Given the description of an element on the screen output the (x, y) to click on. 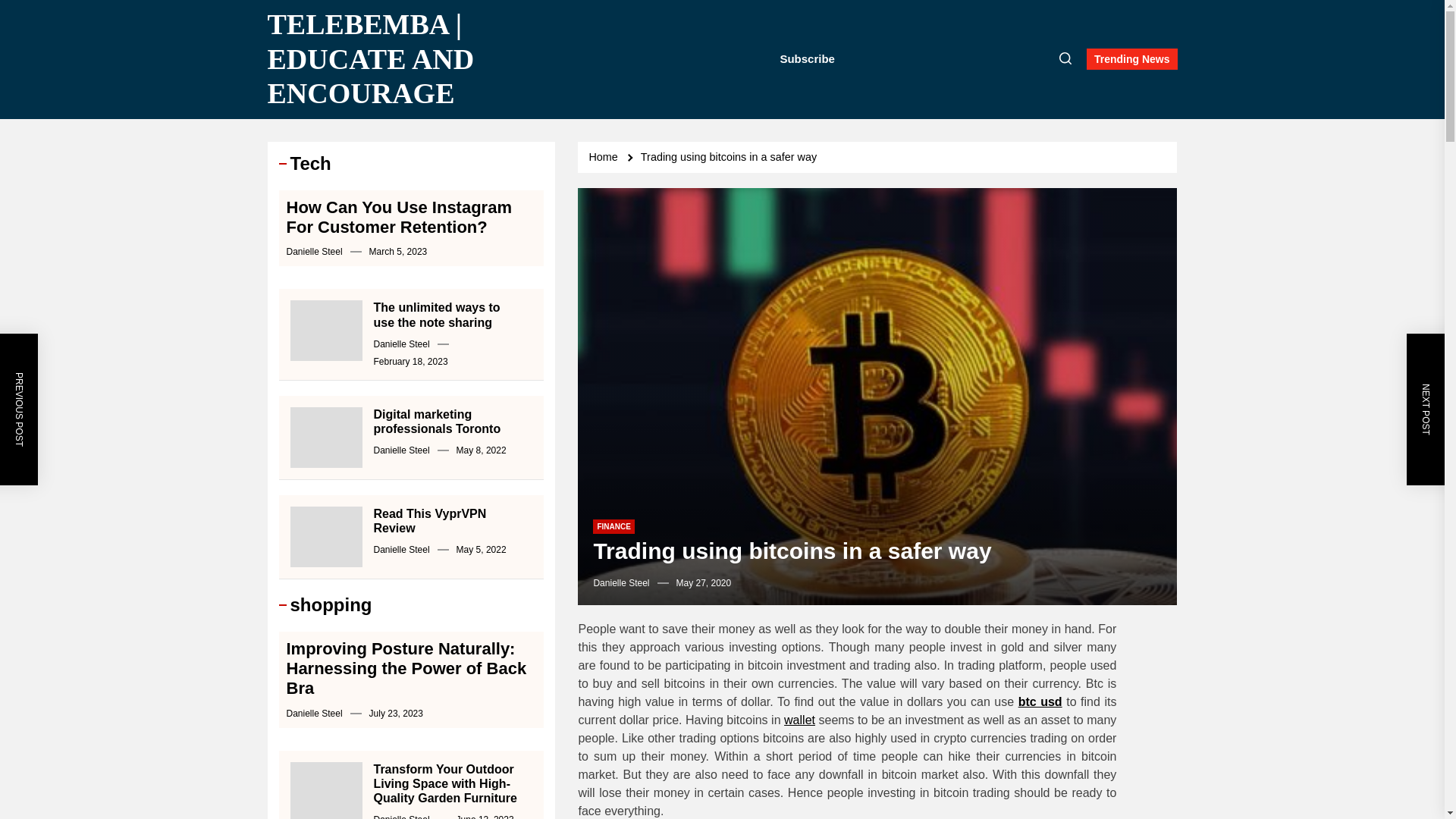
Read This VyprVPN Review (429, 520)
Trending News (1131, 58)
Home (605, 156)
How Can You Use Instagram For Customer Retention? (399, 217)
Subscribe (806, 59)
Digital marketing professionals Toronto (436, 420)
May 27, 2020 (704, 582)
Trading using bitcoins in a safer way (731, 156)
FINANCE (612, 526)
Danielle Steel (620, 583)
The unlimited ways to use the note sharing (435, 314)
